Given the description of an element on the screen output the (x, y) to click on. 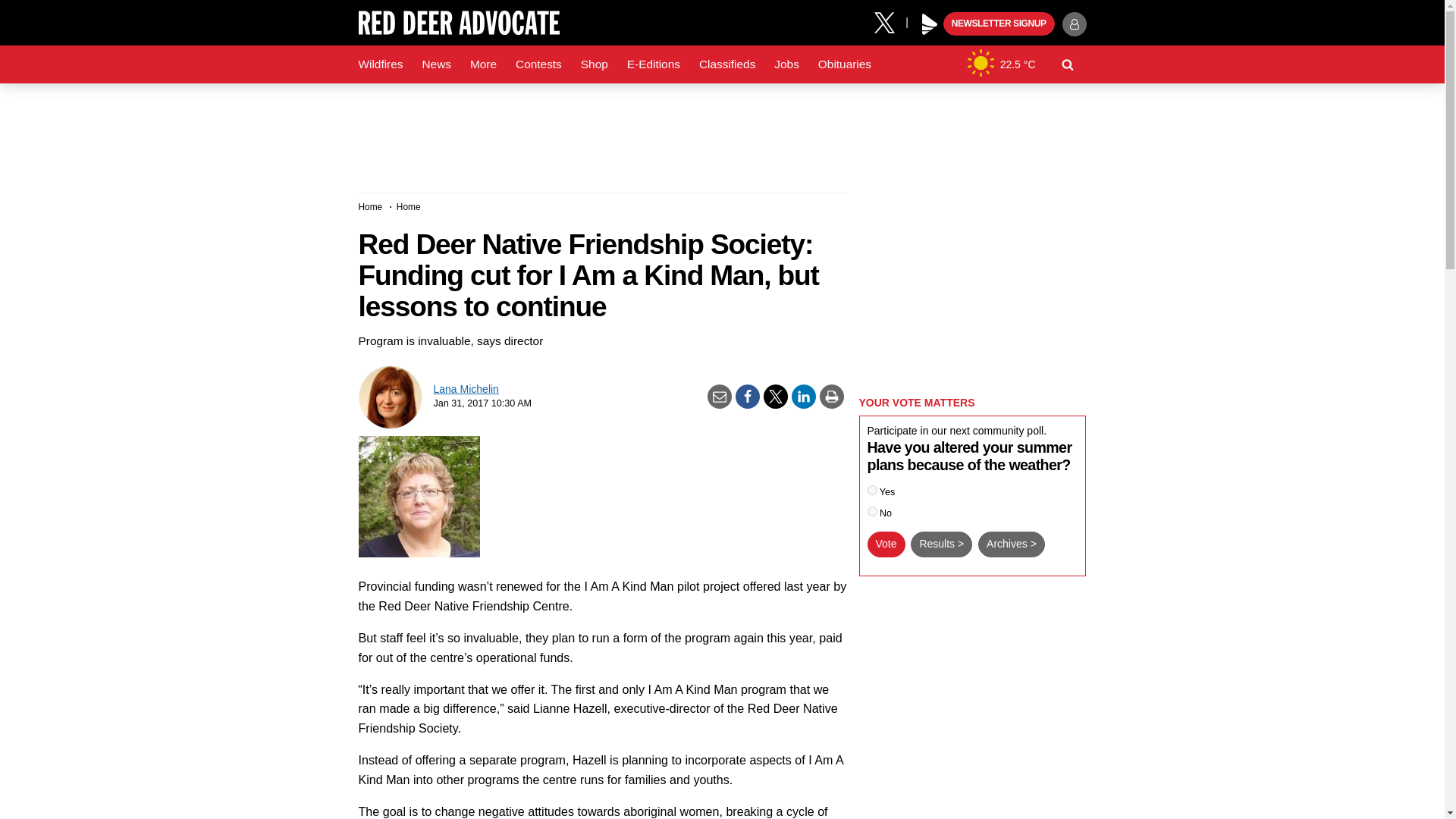
News (435, 64)
Wildfires (380, 64)
Black Press Media (929, 24)
Play (929, 24)
242 (872, 511)
X (889, 21)
NEWSLETTER SIGNUP (998, 24)
241 (872, 490)
